Given the description of an element on the screen output the (x, y) to click on. 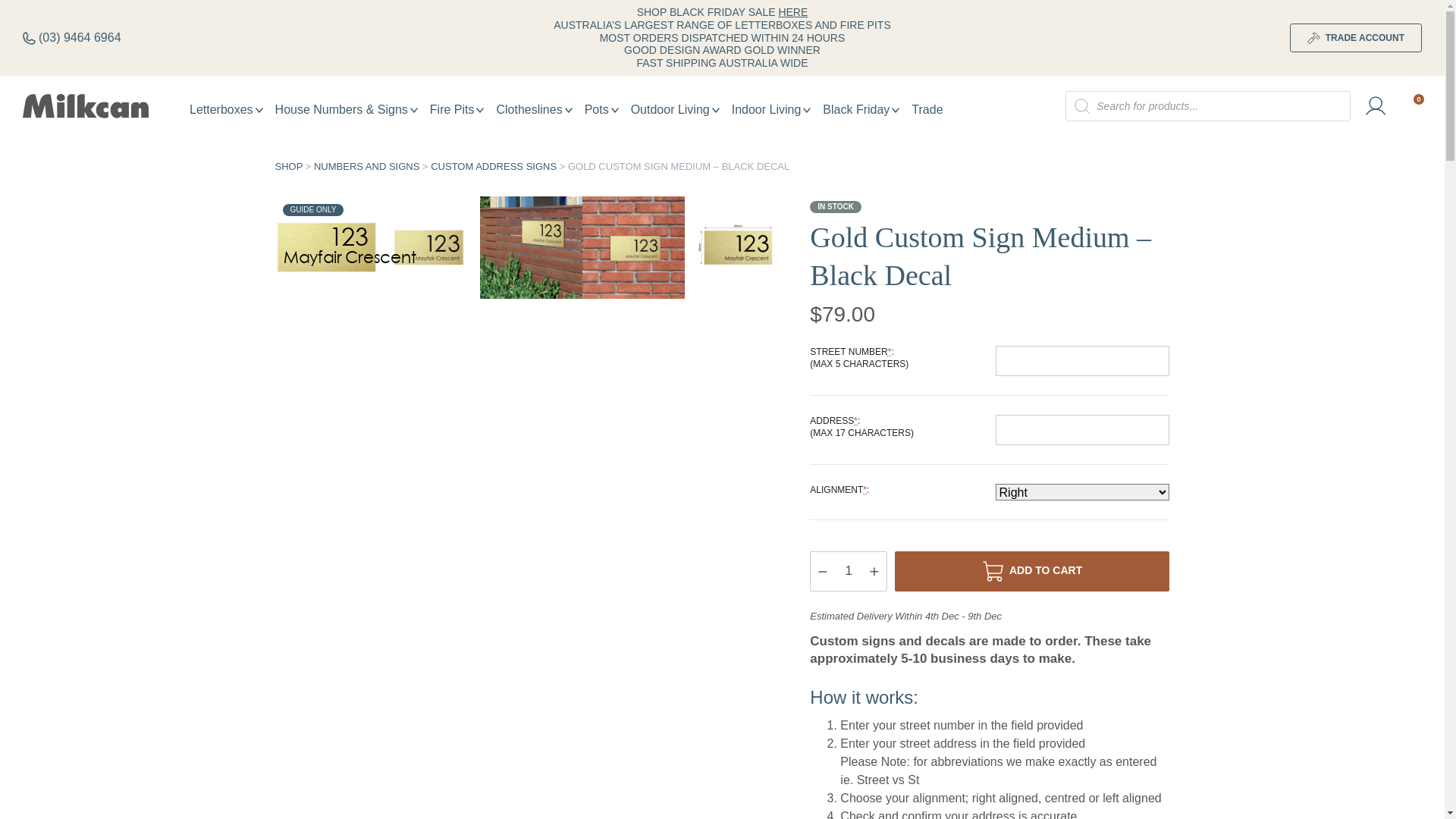
(03) 9464 6964 Element type: text (71, 37)
Fire Pits Element type: text (456, 109)
Milkcan-Mayfair-Signs-gold-vinyl-small-dims-800px Element type: hover (735, 247)
Clotheslines Element type: text (533, 109)
NUMBERS AND SIGNS Element type: text (366, 166)
ADD TO CART Element type: text (1031, 571)
Pots Element type: text (601, 109)
Trade Element type: text (926, 109)
Indoor Living Element type: text (771, 109)
SHOP Element type: text (288, 166)
Milkcan-Mayfair-gold-aluminium-Signs-black-small-hs-800px Element type: hover (633, 247)
Qty Element type: hover (848, 571)
HERE Element type: text (792, 12)
CUSTOM ADDRESS SIGNS Element type: text (493, 166)
Outdoor Living Element type: text (674, 109)
0 Element type: text (1411, 106)
  TRADE ACCOUNT Element type: text (1355, 38)
Letterboxes Element type: text (226, 109)
Black Friday Element type: text (860, 109)
House Numbers & Signs Element type: text (346, 109)
Milkcan Outdoor Element type: hover (85, 106)
